Given the description of an element on the screen output the (x, y) to click on. 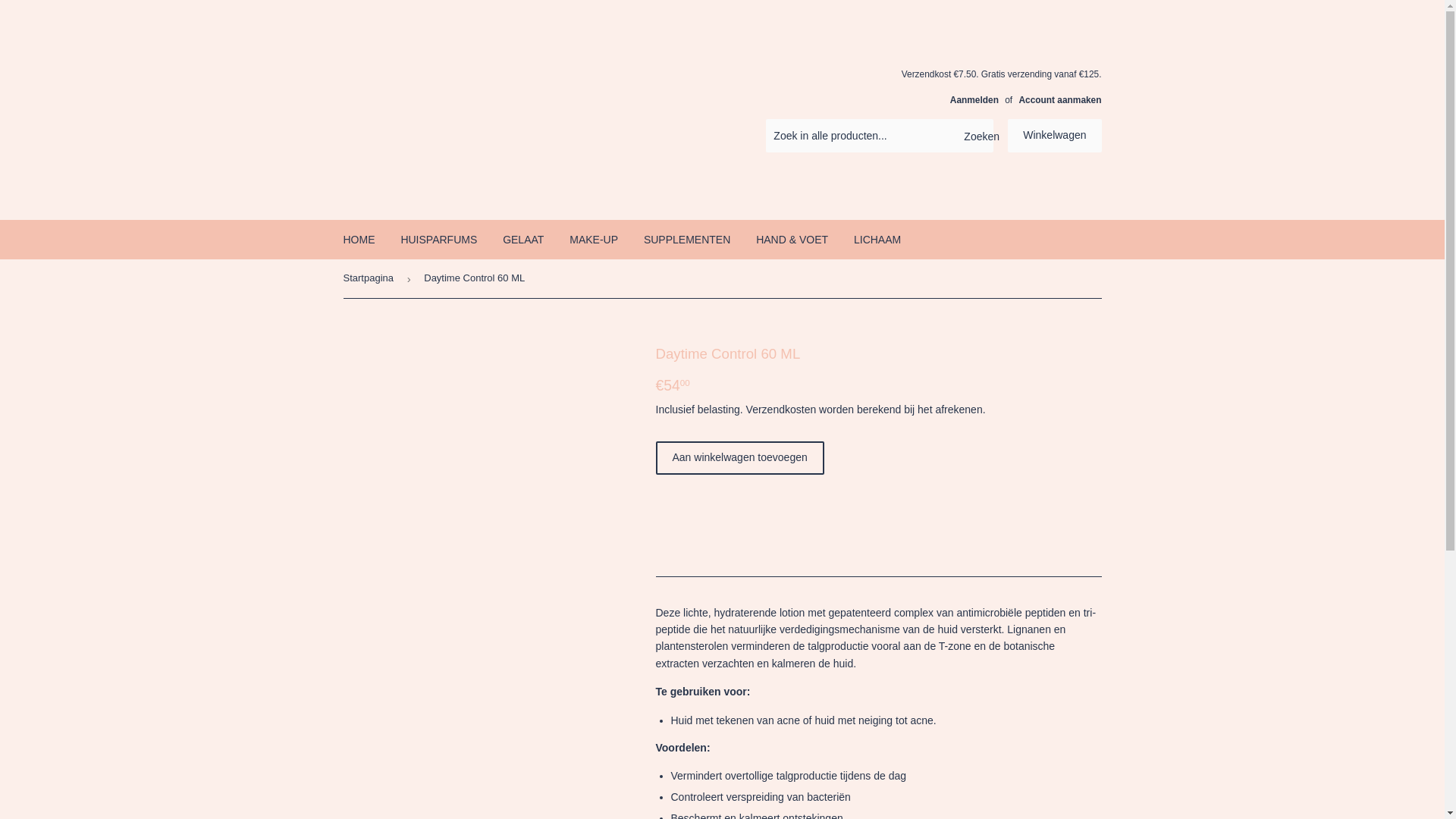
HUISPARFUMS Element type: text (438, 239)
Aanmelden Element type: text (974, 99)
Zoeken Element type: text (976, 136)
SUPPLEMENTEN Element type: text (686, 239)
HAND & VOET Element type: text (791, 239)
HOME Element type: text (359, 239)
Account aanmaken Element type: text (1059, 99)
Winkelwagen Element type: text (1054, 135)
GELAAT Element type: text (523, 239)
Aan winkelwagen toevoegen Element type: text (739, 457)
Startpagina Element type: text (370, 278)
MAKE-UP Element type: text (593, 239)
LICHAAM Element type: text (877, 239)
Verzendkosten Element type: text (781, 409)
